Given the description of an element on the screen output the (x, y) to click on. 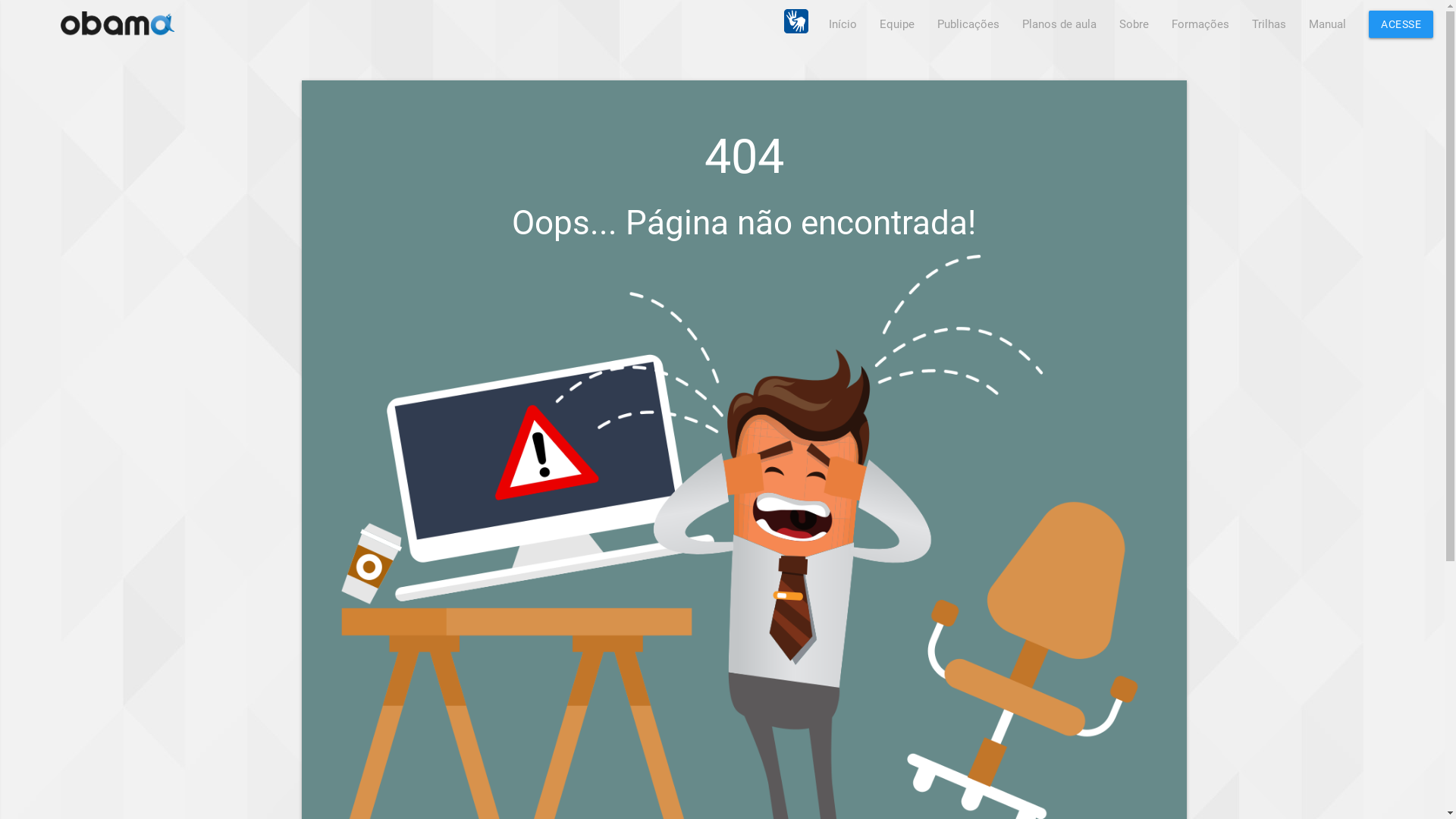
Sobre Element type: text (1133, 24)
Manual Element type: text (1327, 24)
Equipe Element type: text (896, 24)
Trilhas Element type: text (1268, 24)
Planos de aula Element type: text (1058, 24)
ACESSE Element type: text (1400, 23)
